Given the description of an element on the screen output the (x, y) to click on. 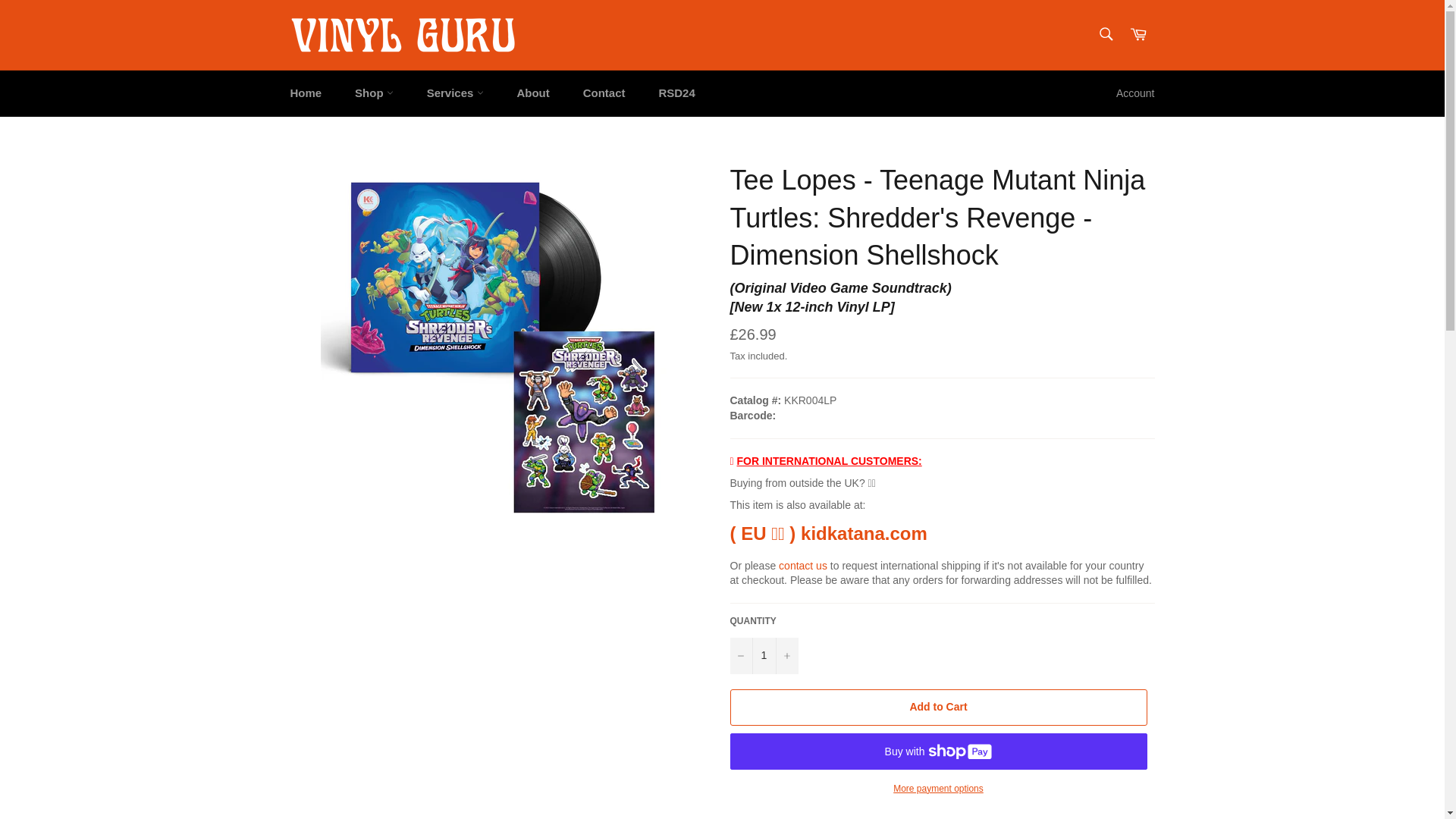
1 (763, 656)
